Given the description of an element on the screen output the (x, y) to click on. 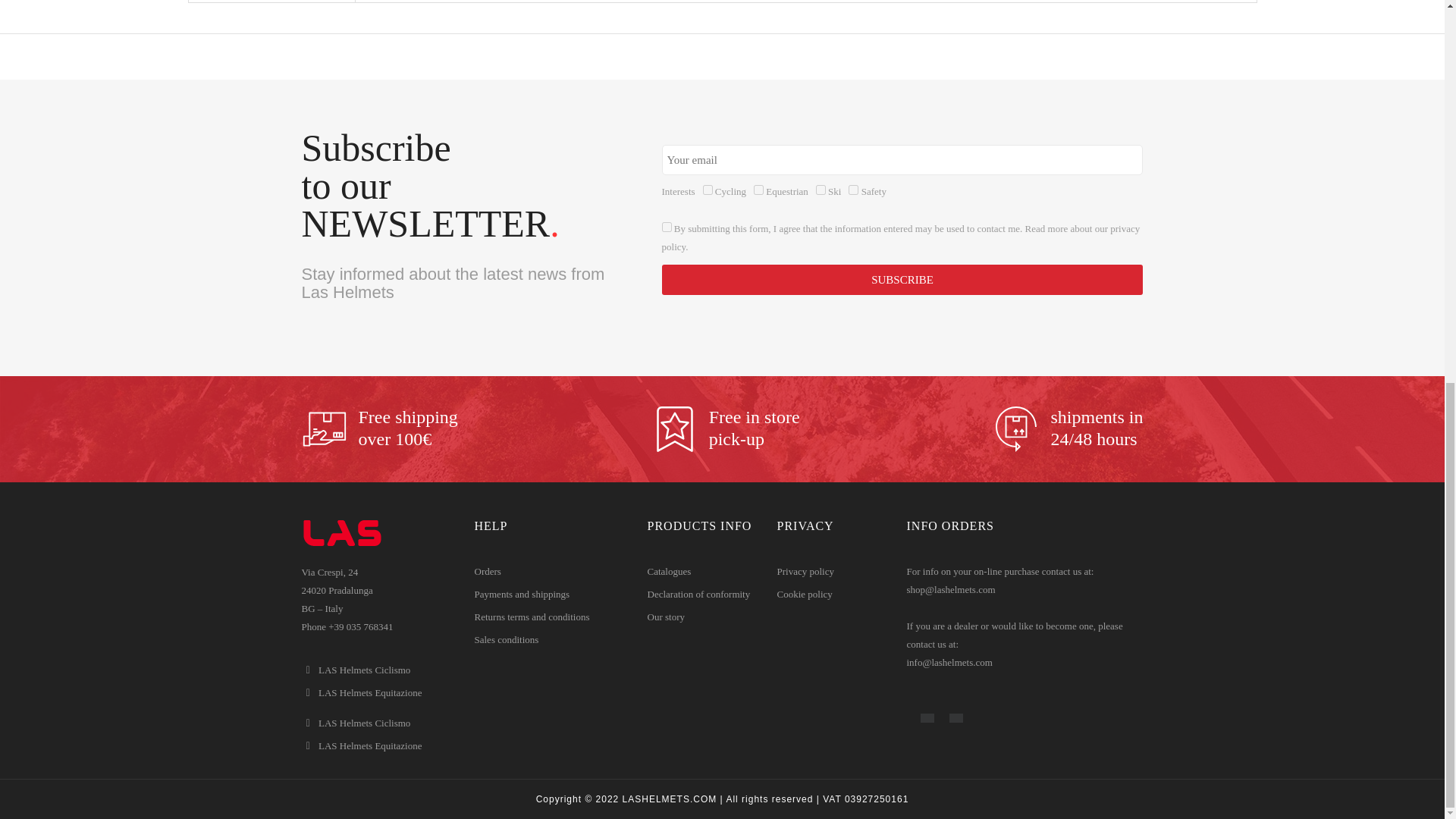
Privacy Policy  (901, 237)
ski (820, 189)
on (666, 226)
equestrian (758, 189)
safety (853, 189)
cycling (708, 189)
